Given the description of an element on the screen output the (x, y) to click on. 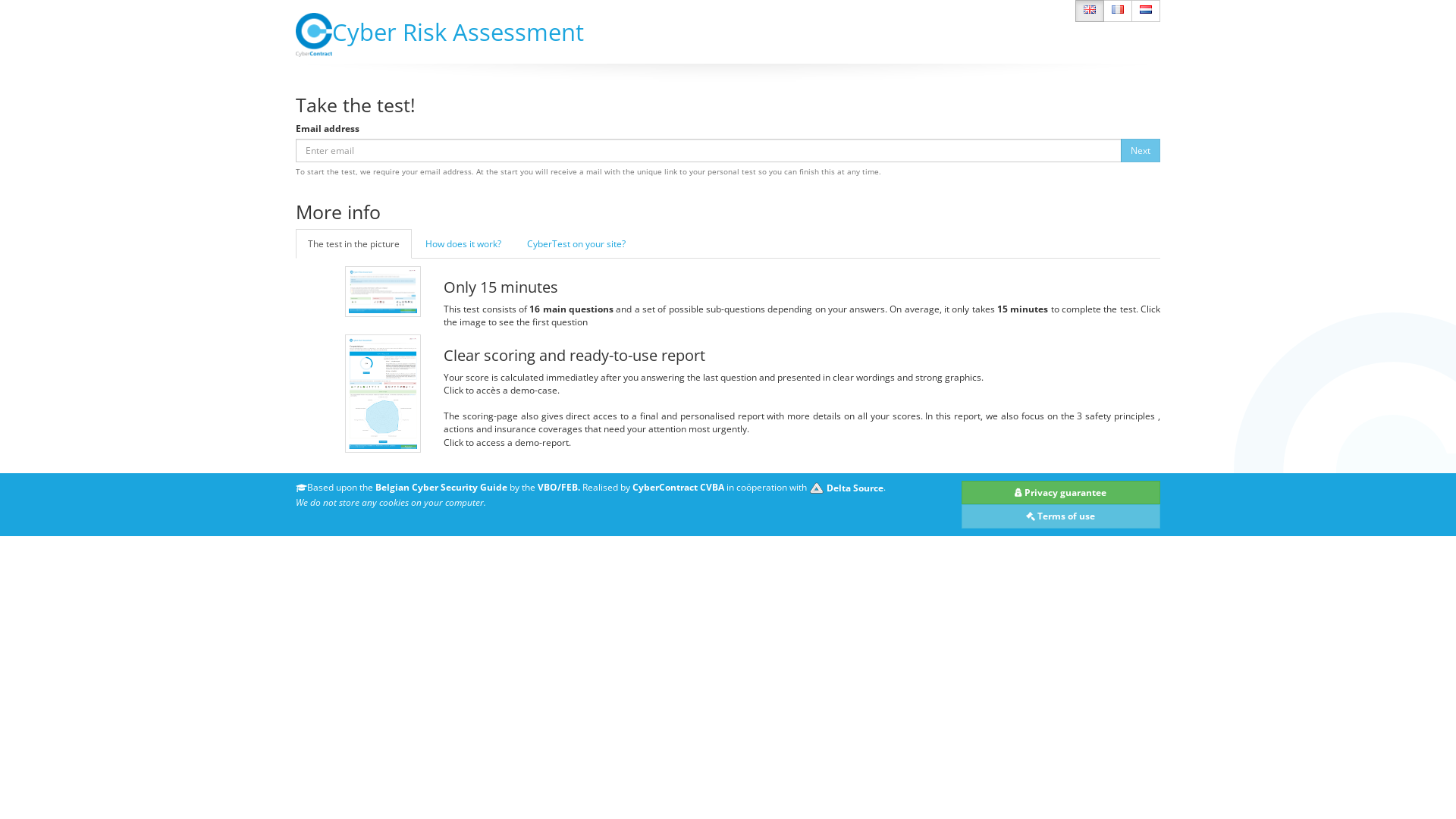
Next Element type: text (1140, 150)
The test in the picture Element type: text (353, 243)
 Terms of use Element type: text (1061, 515)
How does it work? Element type: text (463, 243)
VBO/FEB. Element type: text (558, 487)
Belgian Cyber Security Guide Element type: text (441, 487)
 Privacy guarantee Element type: text (1061, 492)
CyberContract CVBA Element type: text (678, 487)
CyberTest on your site? Element type: text (575, 243)
Delta Source Element type: text (846, 487)
